Given the description of an element on the screen output the (x, y) to click on. 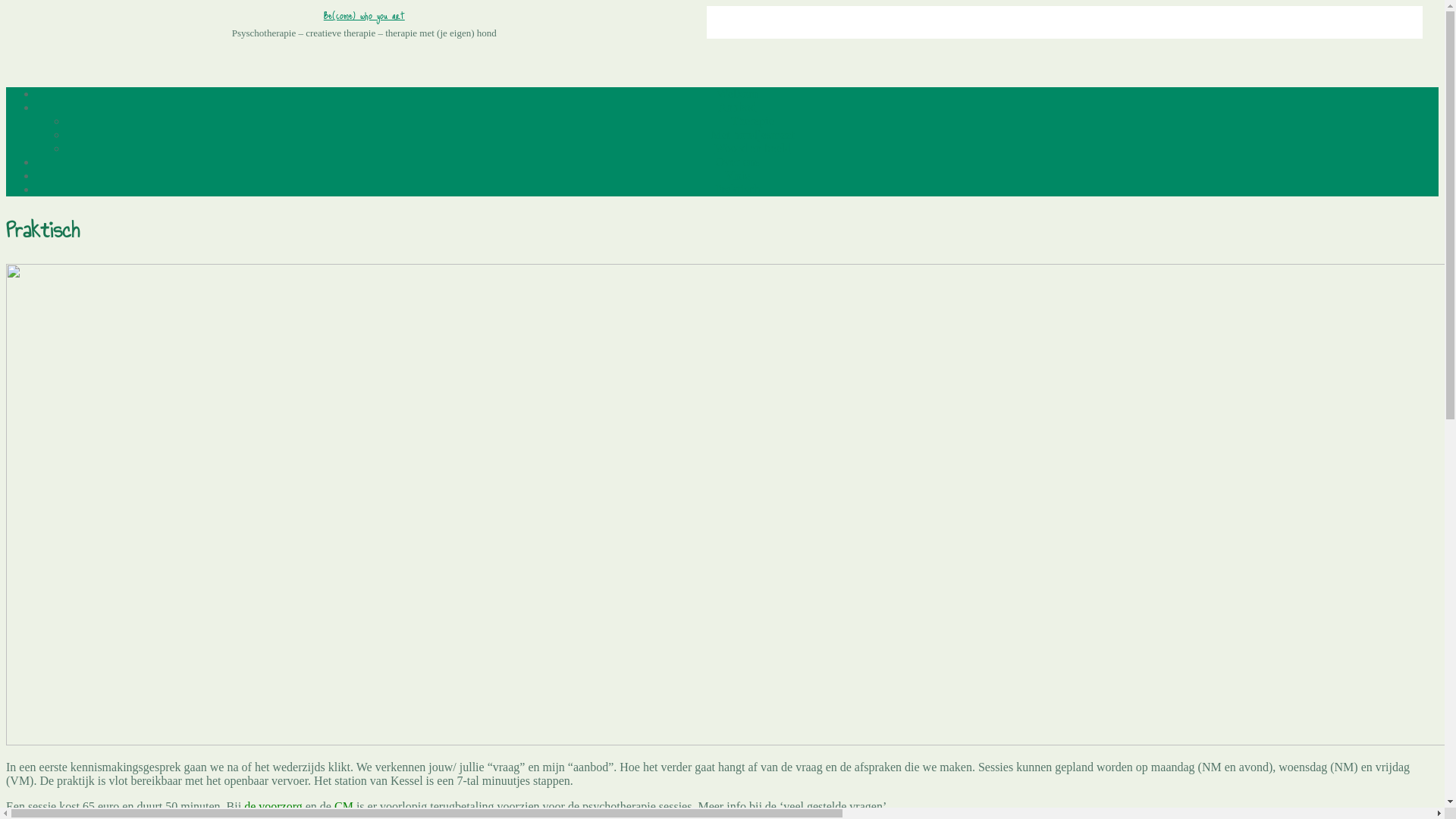
Welkom Element type: text (737, 93)
Met hondjesmaat Element type: text (752, 134)
Visie Element type: text (736, 175)
de voorzorg Element type: text (273, 806)
Therapie Element type: text (752, 120)
Woord en beeld Element type: text (752, 147)
Praktisch Element type: text (737, 188)
Over ons Element type: text (737, 161)
CM Element type: text (343, 806)
Aanbod Element type: text (737, 106)
Be(come) who you art Element type: text (363, 15)
